Given the description of an element on the screen output the (x, y) to click on. 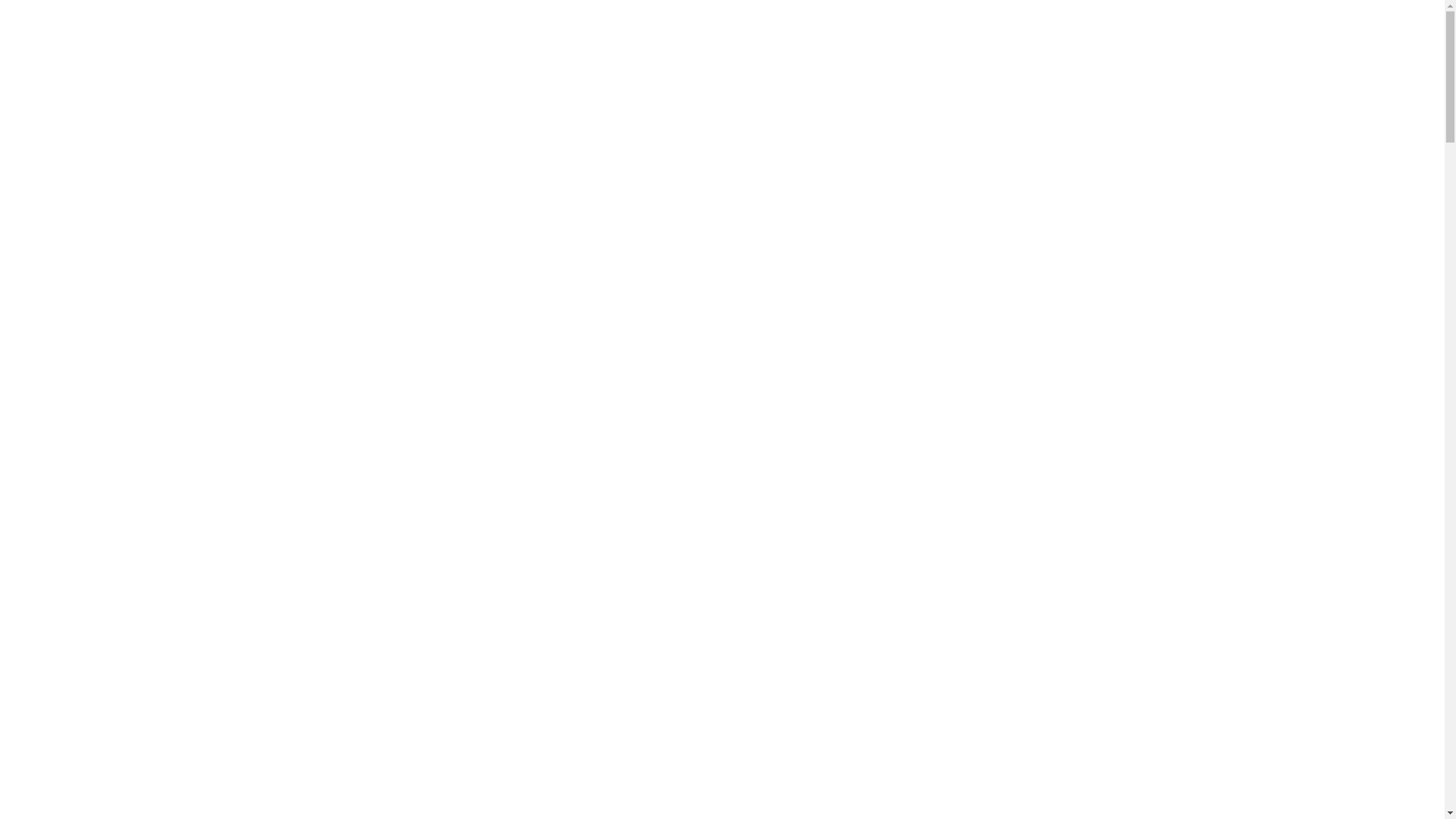
Kontakt Element type: text (1034, 32)
Vorstand Element type: text (888, 32)
Start Element type: text (574, 32)
Bugatti Element type: text (715, 32)
News/Events Element type: text (800, 32)
Internal Element type: text (1107, 32)
Galerie Element type: text (962, 32)
